Given the description of an element on the screen output the (x, y) to click on. 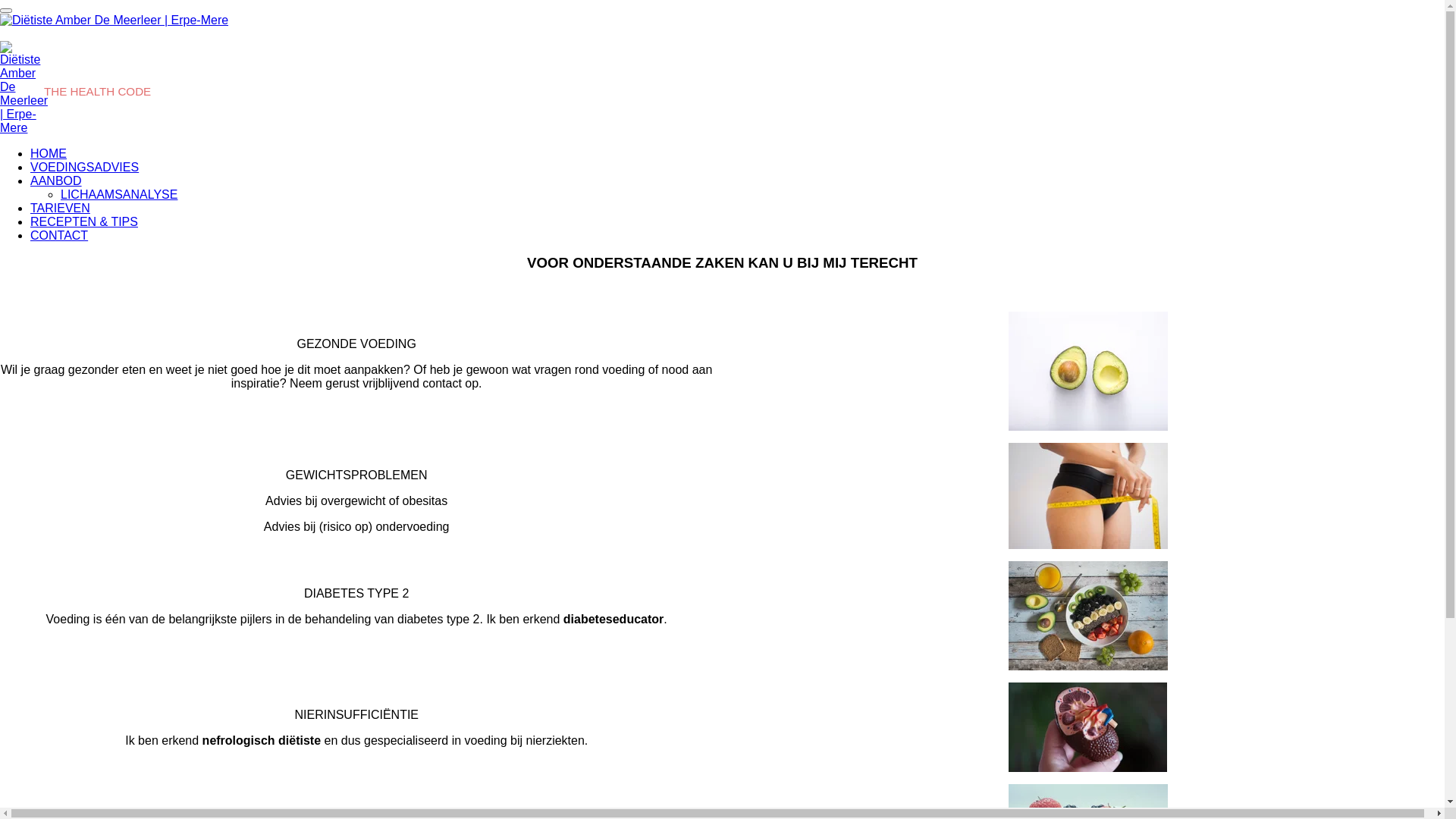
RECEPTEN & TIPS Element type: text (84, 221)
THE HEALTH CODE Element type: text (96, 90)
TARIEVEN Element type: text (60, 207)
CONTACT Element type: text (58, 235)
AANBOD Element type: text (55, 180)
VOEDINGSADVIES Element type: text (84, 166)
HOME Element type: text (48, 153)
LICHAAMSANALYSE Element type: text (118, 194)
